Given the description of an element on the screen output the (x, y) to click on. 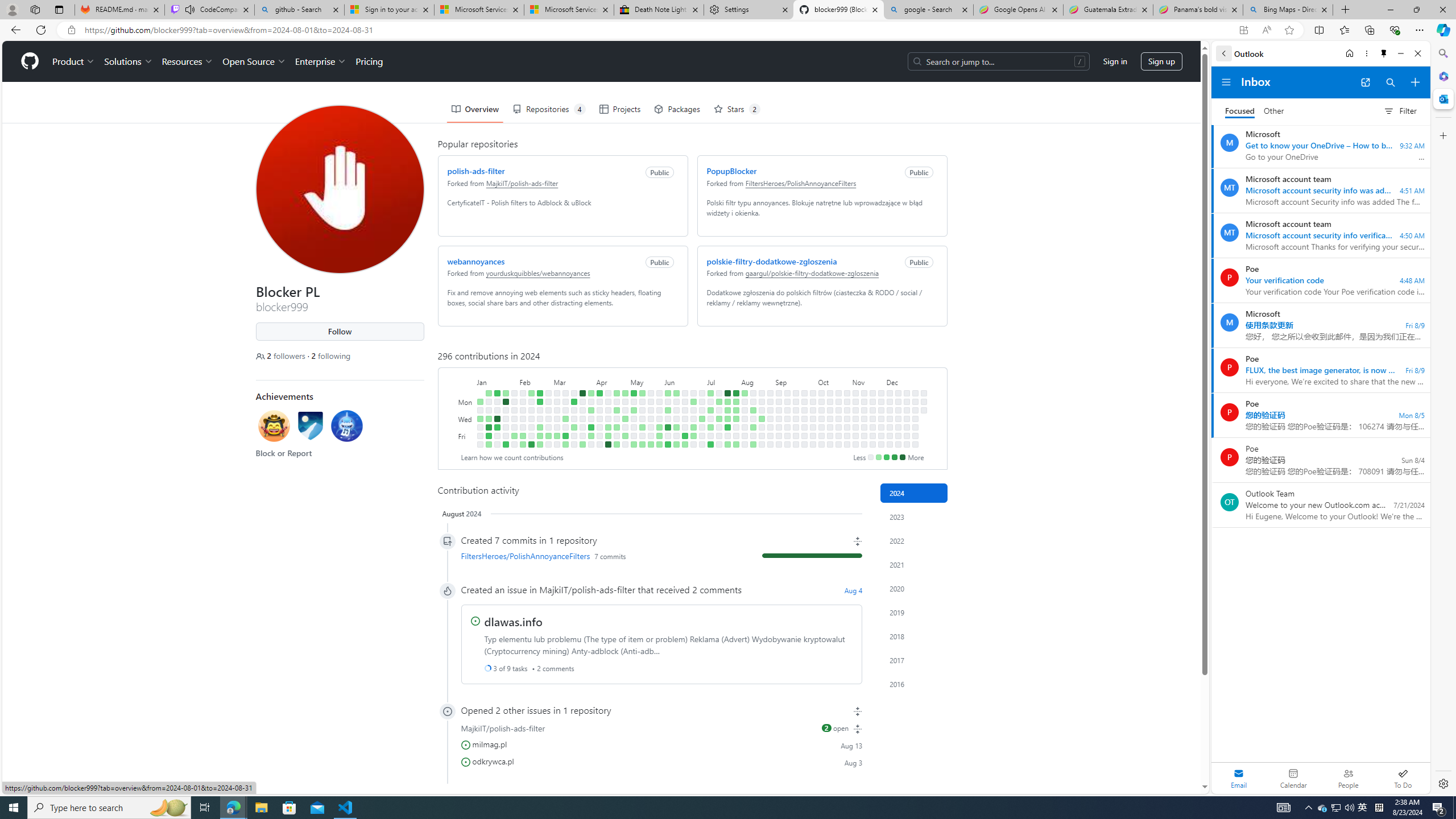
No contributions on May 14th. (642, 410)
Filter (1399, 110)
No contributions on December 8th. (897, 392)
13 contributions on January 17th. (496, 418)
No contributions on October 31st. (846, 427)
1 contribution on August 17th. (753, 444)
No contributions on April 13th. (598, 444)
No contributions on October 10th. (821, 427)
Enterprise (319, 60)
No contributions on January 20th. (496, 444)
No contributions on May 13th. (642, 401)
January (496, 380)
No contributions on July 8th. (710, 401)
